Given the description of an element on the screen output the (x, y) to click on. 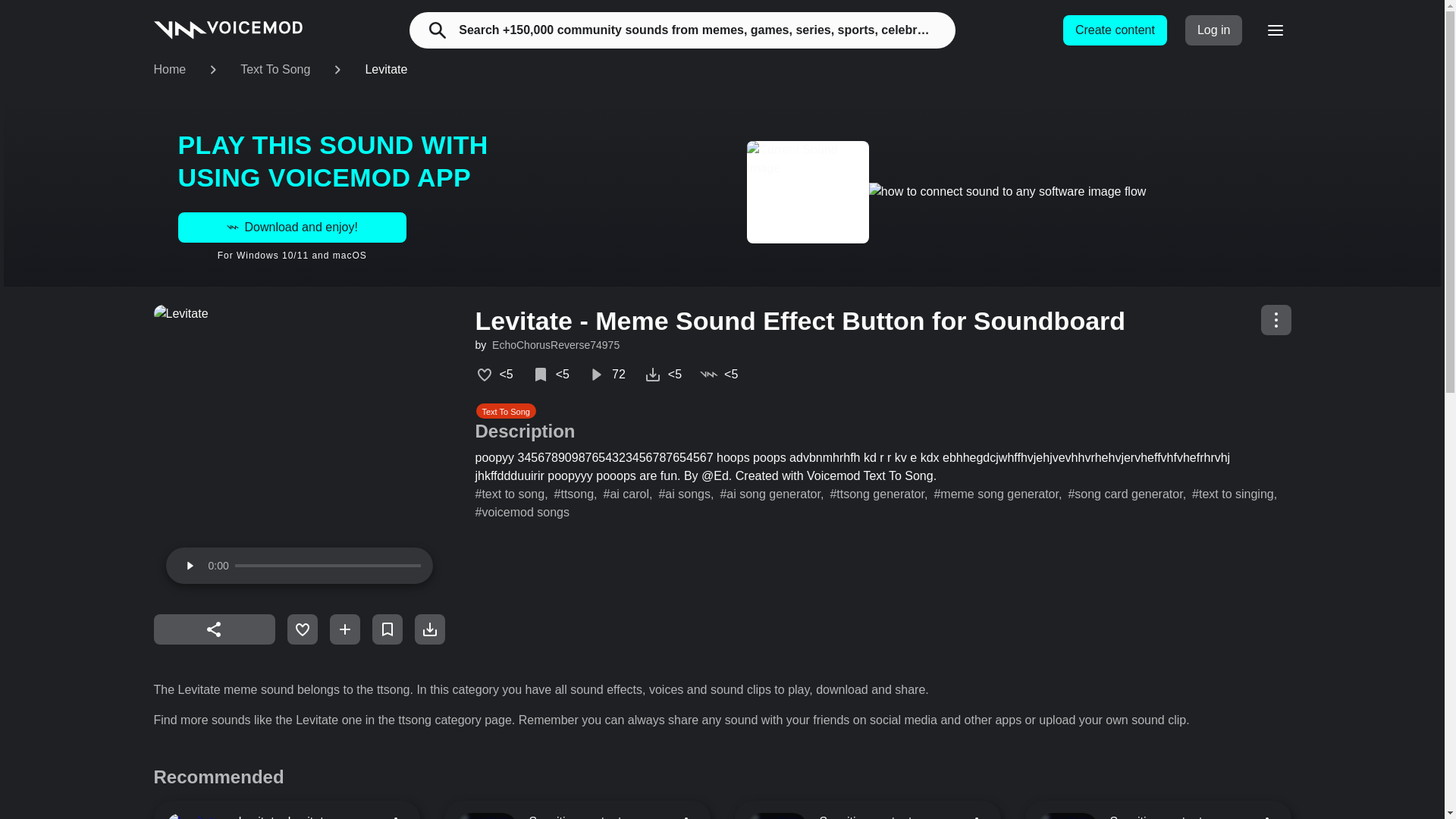
Levitate (386, 69)
0 (327, 565)
Log in (1214, 30)
Played 72 times (607, 374)
Create content (1114, 30)
Download and enjoy! (291, 227)
Home (169, 69)
Text To Song (275, 69)
